Given the description of an element on the screen output the (x, y) to click on. 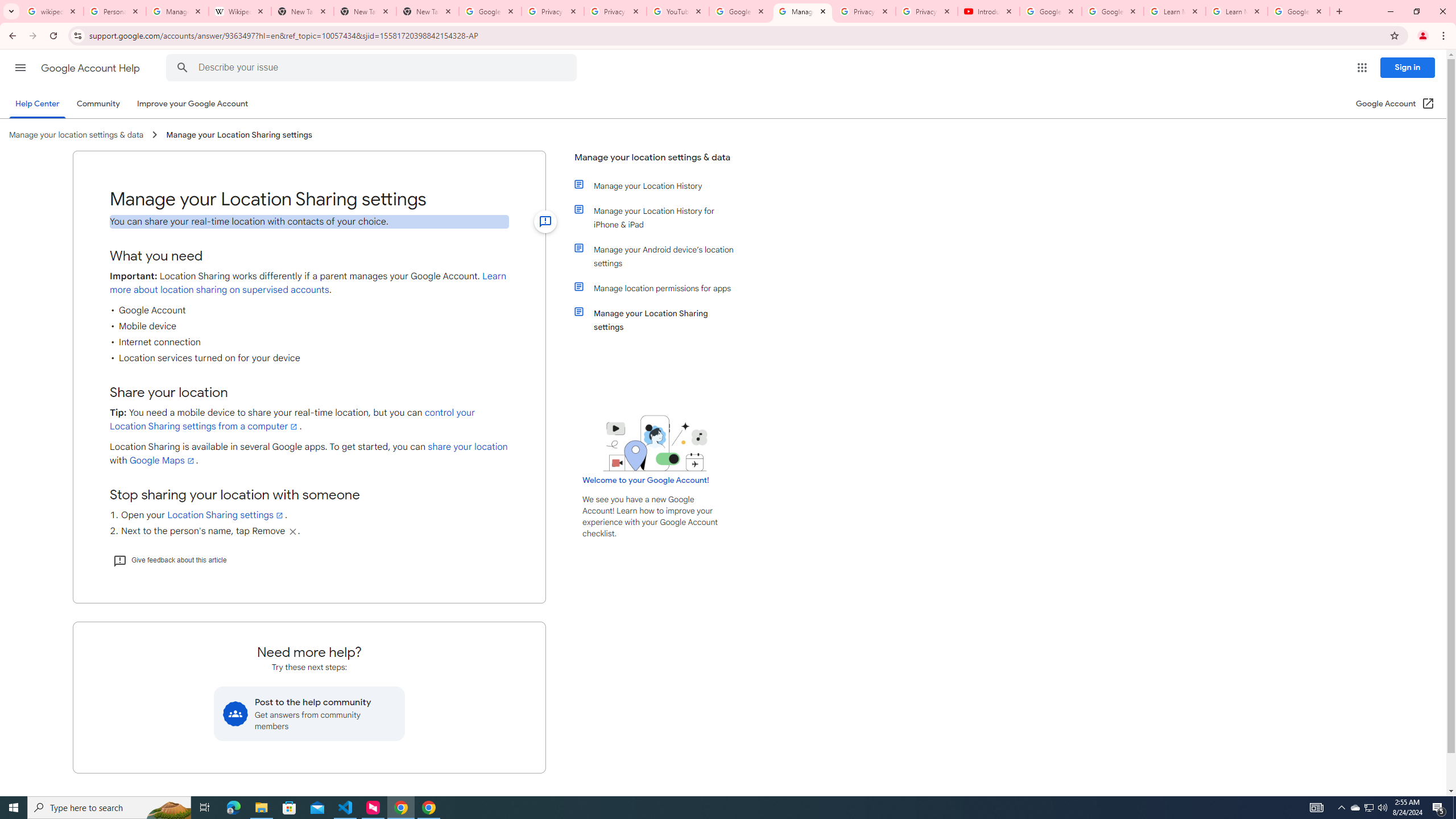
Google Account Help (91, 68)
Manage your Location History (661, 185)
Manage your Location Sharing settings (661, 319)
Google Account Help (740, 11)
Manage your Location History - Google Search Help (177, 11)
New Tab (427, 11)
